Given the description of an element on the screen output the (x, y) to click on. 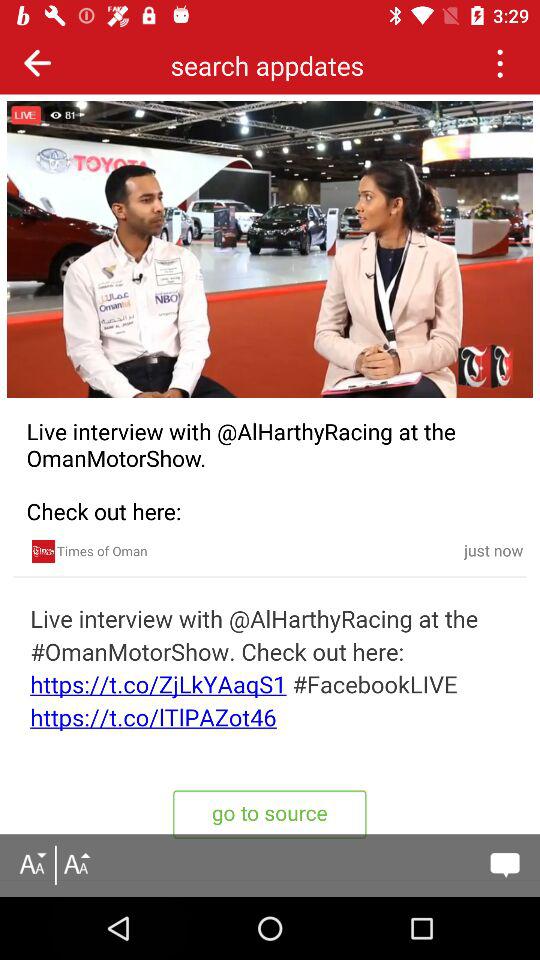
go back button (37, 62)
